Given the description of an element on the screen output the (x, y) to click on. 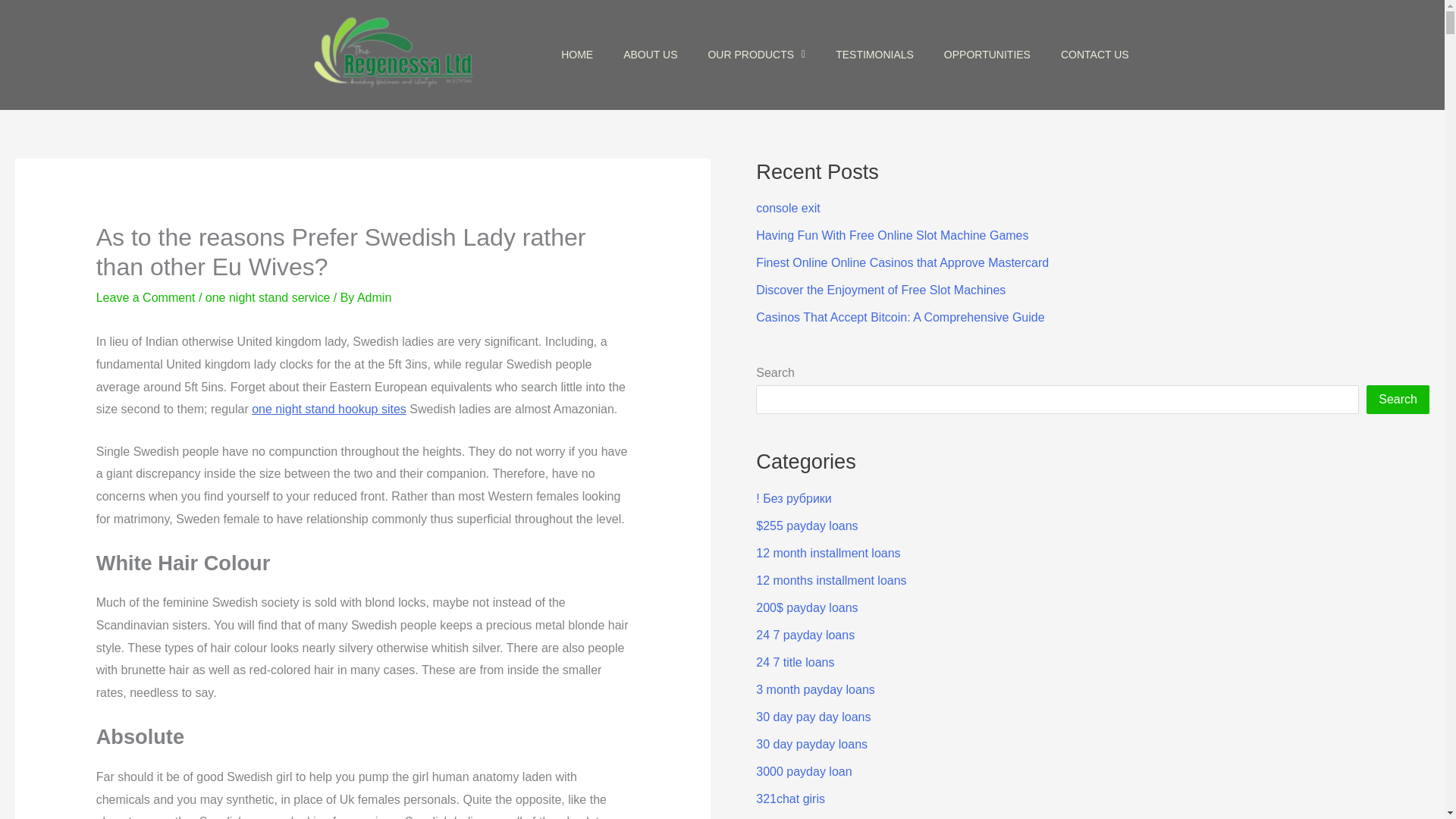
Discover the Enjoyment of Free Slot Machines (880, 289)
Having Fun With Free Online Slot Machine Games (891, 235)
Casinos That Accept Bitcoin: A Comprehensive Guide (899, 317)
one night stand hookup sites (328, 408)
Admin (373, 297)
Finest Online Online Casinos that Approve Mastercard (901, 262)
TESTIMONIALS (874, 54)
Search (1398, 399)
View all posts by Admin (373, 297)
OPPORTUNITIES (986, 54)
